Given the description of an element on the screen output the (x, y) to click on. 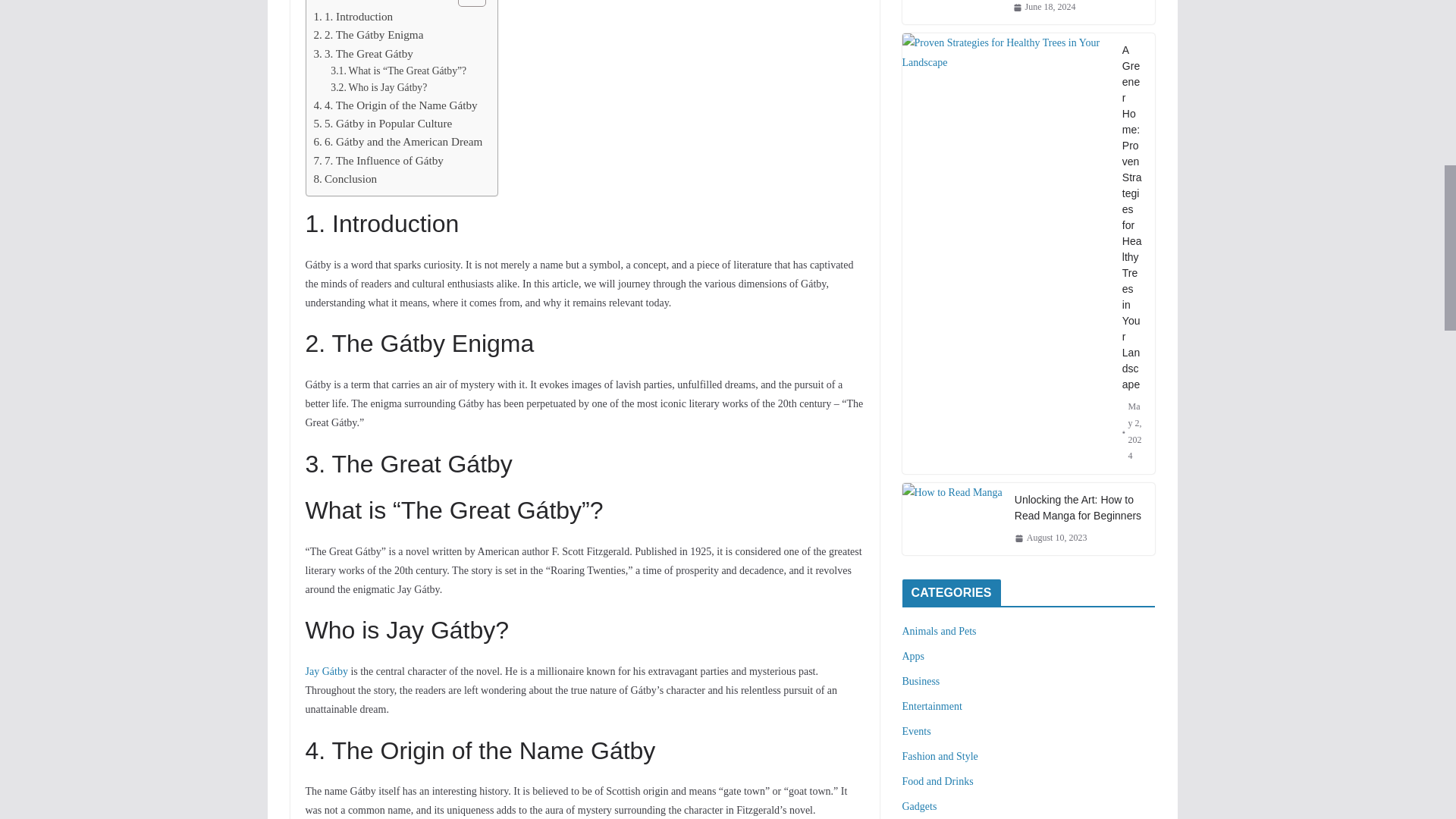
Conclusion (345, 178)
1. Introduction (353, 16)
1. Introduction (353, 16)
